Given the description of an element on the screen output the (x, y) to click on. 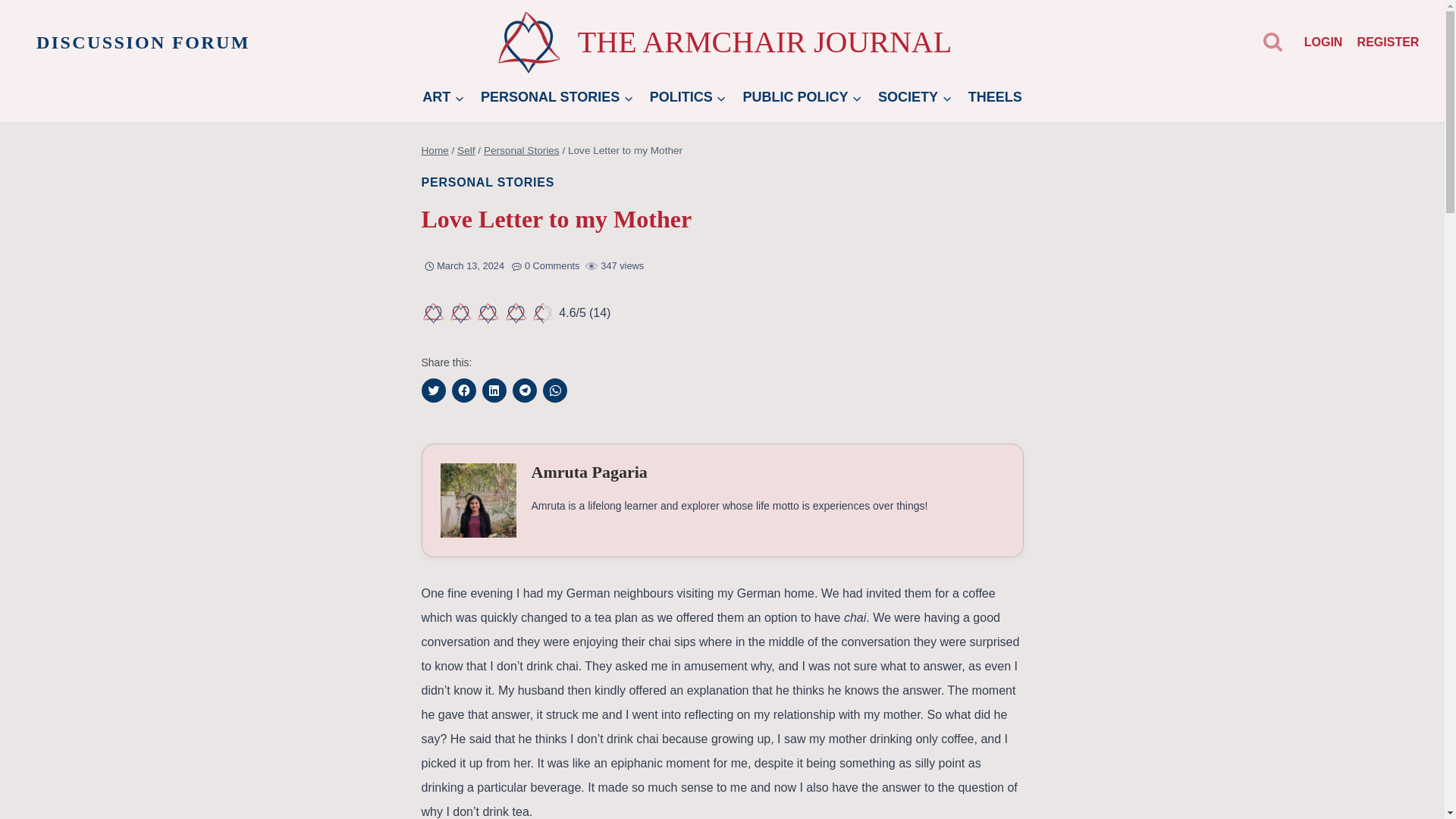
REGISTER (1387, 41)
Click to share on Twitter (433, 390)
PUBLIC POLICY (802, 97)
0 Comments (551, 266)
Personal Stories (521, 150)
THEELS (994, 97)
PERSONAL STORIES (556, 97)
DISCUSSION FORUM (142, 42)
Self (465, 150)
Click to share on Telegram (524, 390)
